Given the description of an element on the screen output the (x, y) to click on. 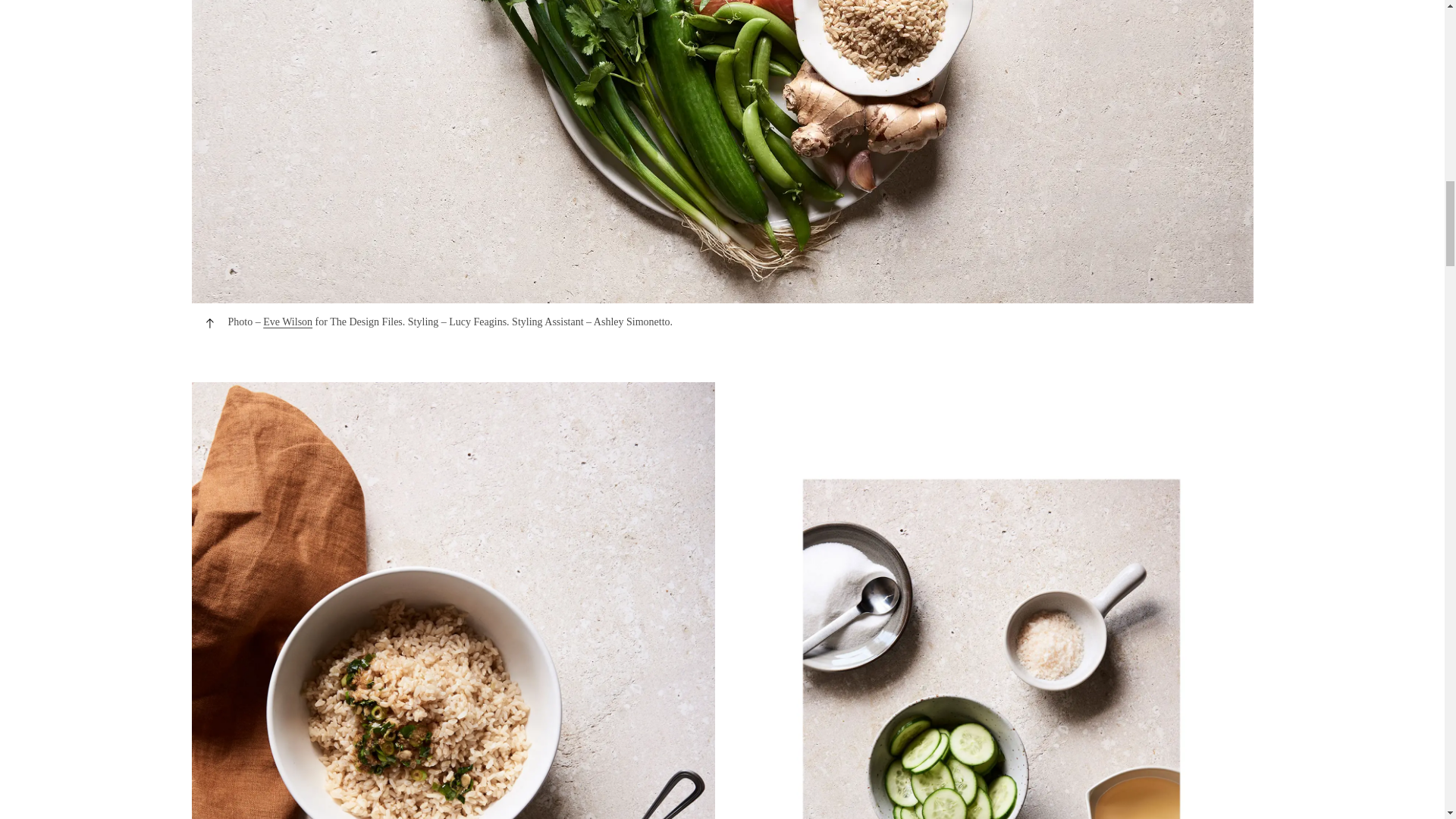
Eve Wilson (288, 321)
